Given the description of an element on the screen output the (x, y) to click on. 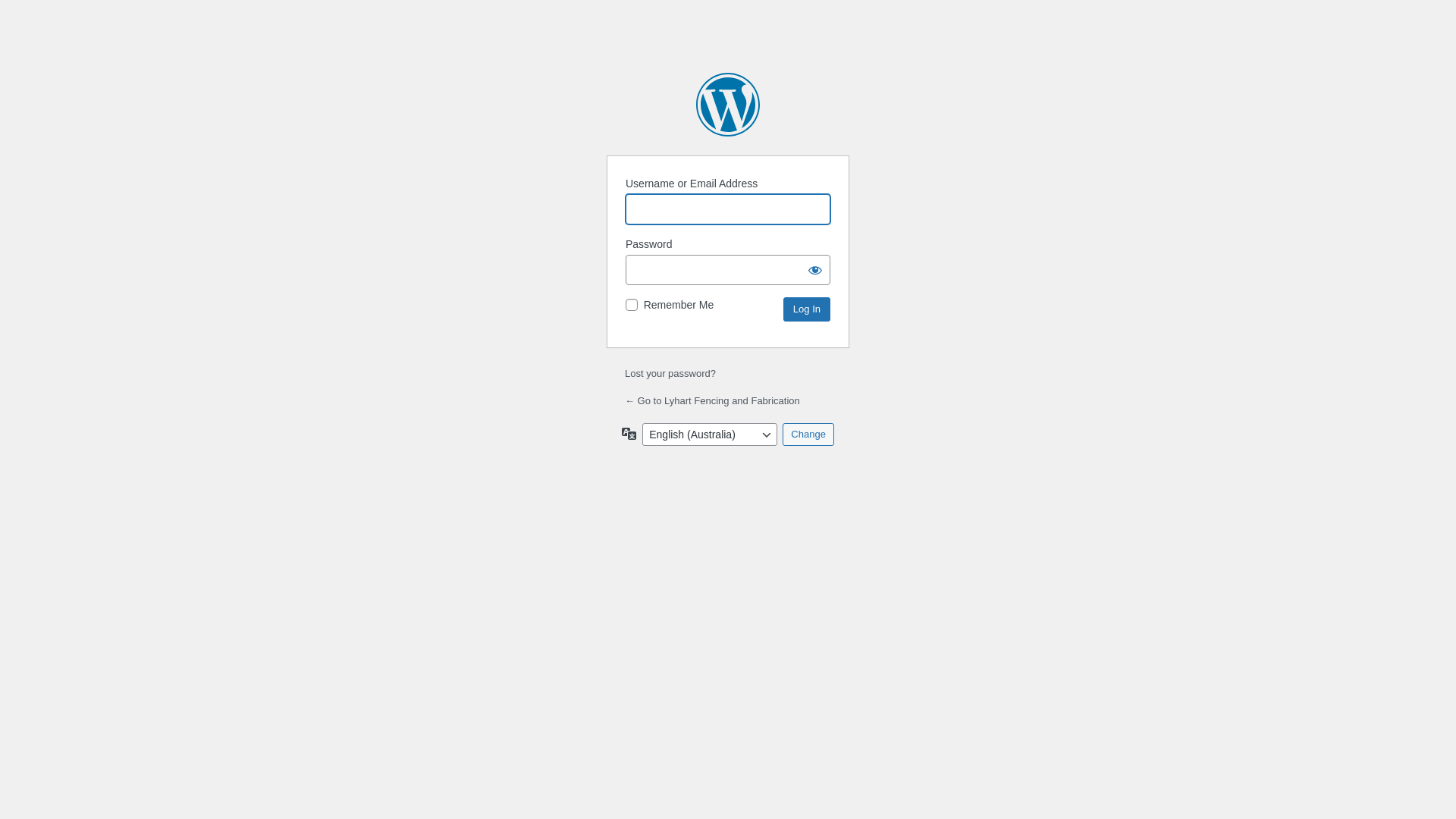
Log In Element type: text (806, 309)
Powered by WordPress Element type: text (727, 104)
Change Element type: text (808, 434)
Lost your password? Element type: text (669, 373)
